Given the description of an element on the screen output the (x, y) to click on. 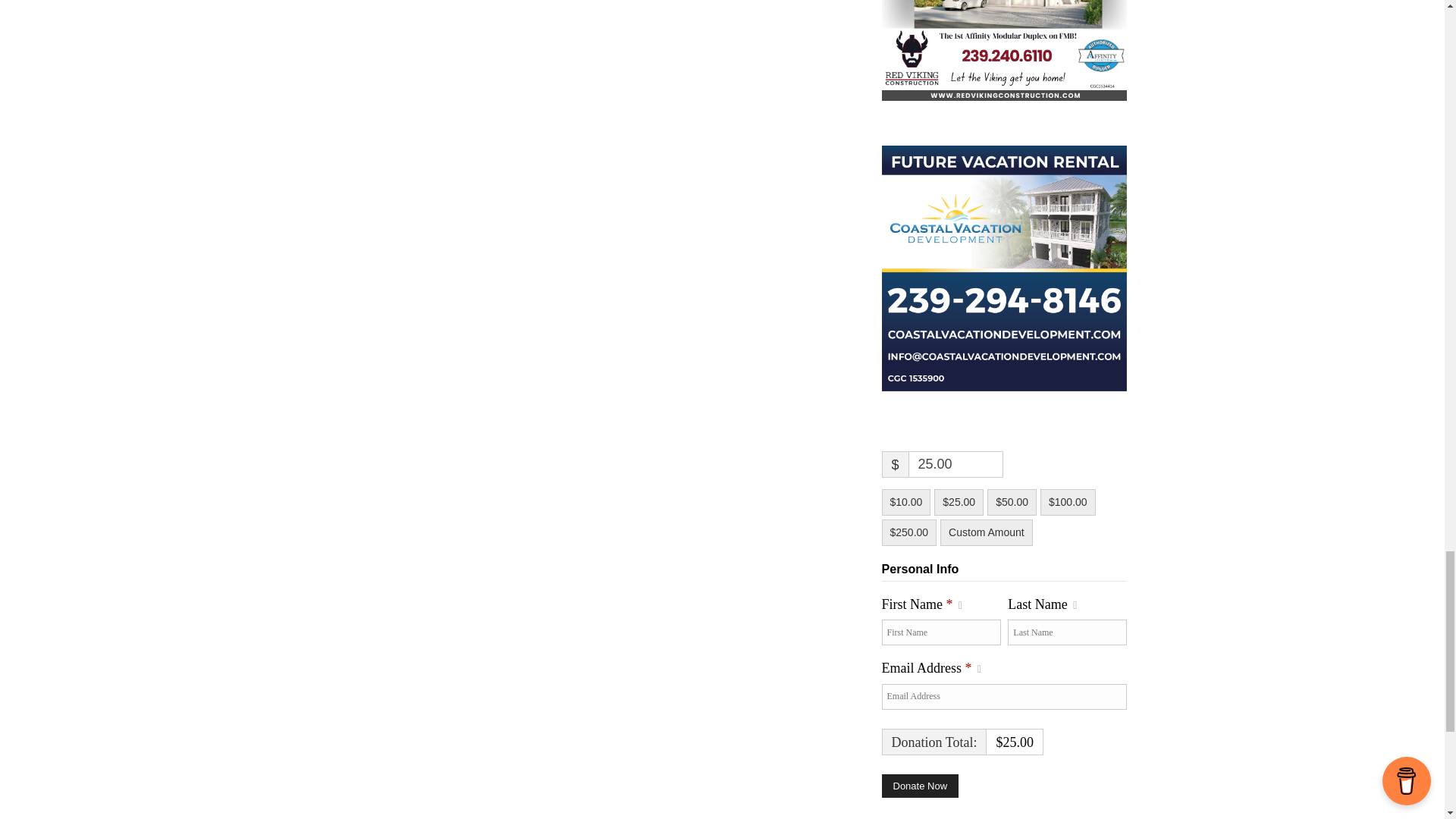
Donate Now (919, 785)
25.00 (955, 464)
